Given the description of an element on the screen output the (x, y) to click on. 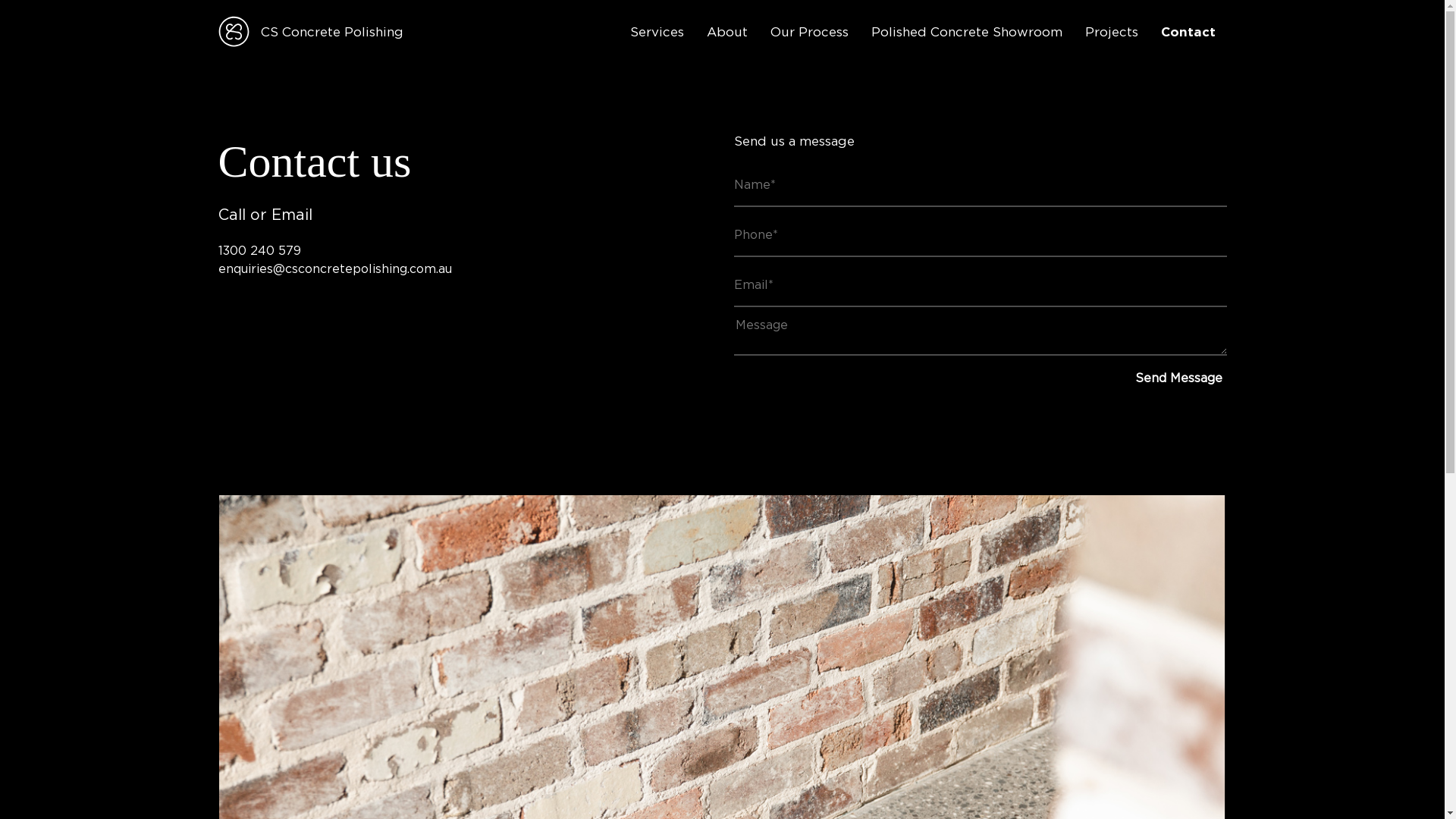
Contact Element type: text (1187, 32)
CS Concrete Polishing Element type: text (310, 31)
Our Process Element type: text (808, 32)
Polished Concrete Showroom Element type: text (966, 32)
Services Element type: text (656, 32)
Projects Element type: text (1111, 32)
About Element type: text (726, 32)
Send Message Element type: text (1177, 378)
